Given the description of an element on the screen output the (x, y) to click on. 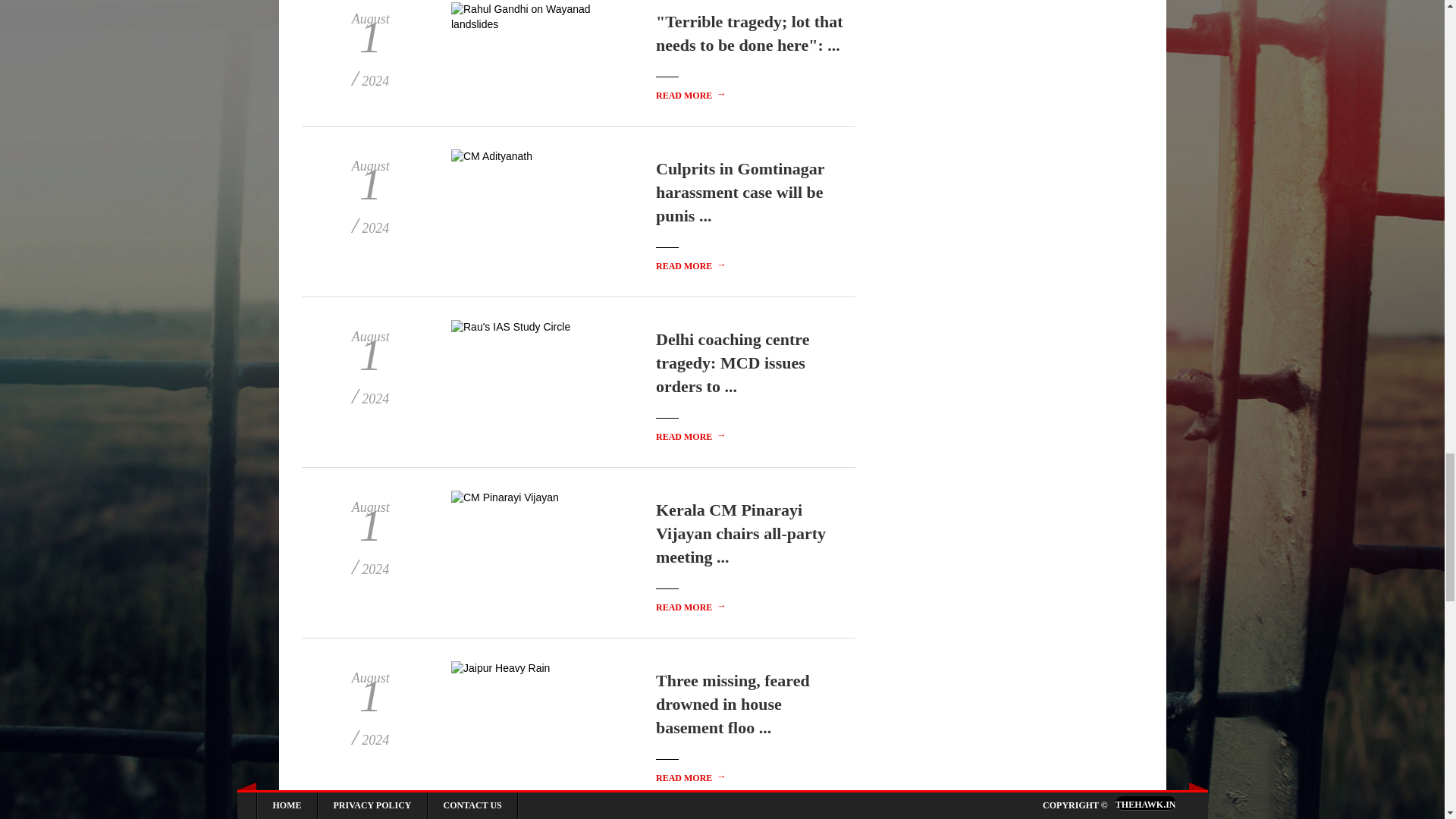
Kerala CM Pinarayi Vijayan chairs all-party meeting ... (740, 533)
Culprits in Gomtinagar harassment case will be punis ... (740, 191)
Three missing, feared drowned in house basement floo ... (732, 703)
"Terrible tragedy; lot that needs to be done here": ... (749, 33)
Delhi coaching centre tragedy: MCD issues orders to ... (732, 362)
